Given the description of an element on the screen output the (x, y) to click on. 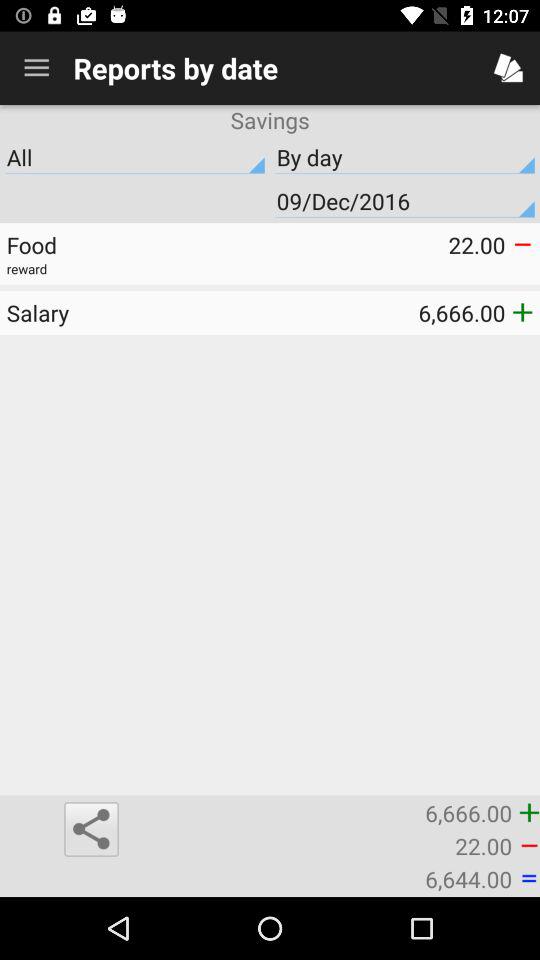
choose icon below the salary item (91, 829)
